Given the description of an element on the screen output the (x, y) to click on. 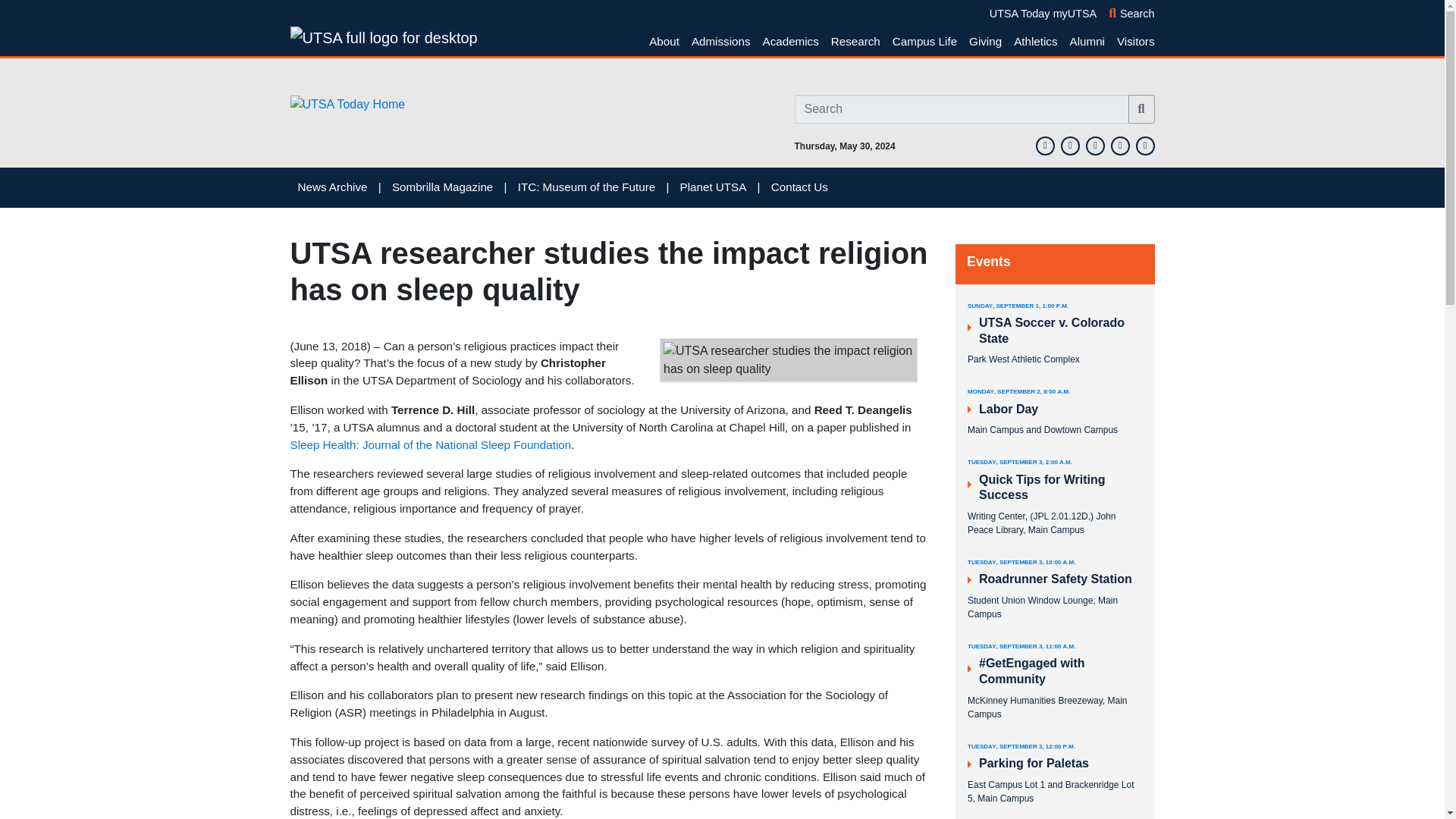
Academics (791, 41)
About (664, 41)
Admissions (721, 41)
Visitors (1132, 41)
UTSA on youtube (1143, 144)
News Archive (331, 186)
UTSA Today Search (1141, 109)
UTSA Today (1019, 12)
Research (855, 41)
Skip to main content (8, 7)
